Given the description of an element on the screen output the (x, y) to click on. 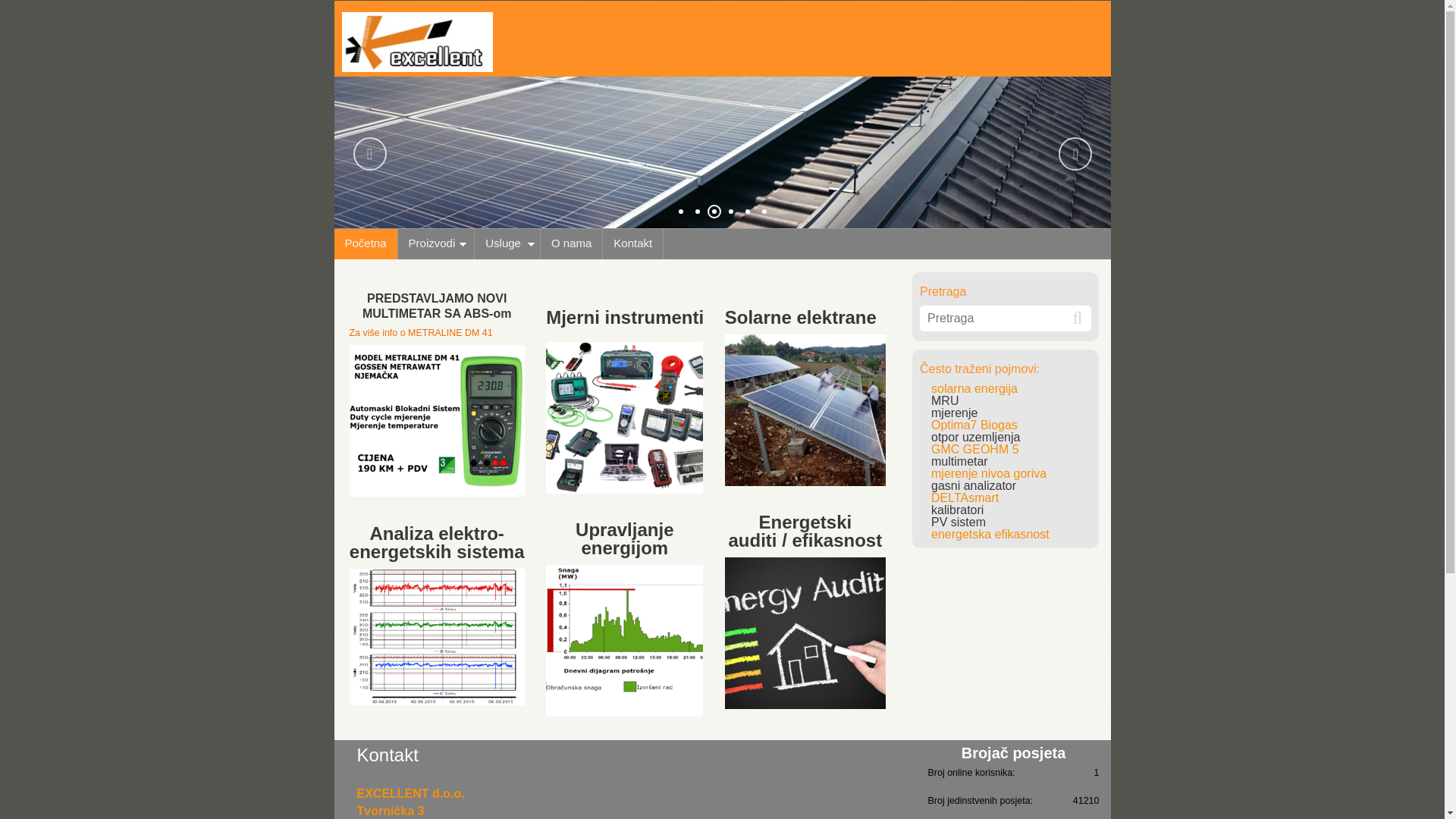
mjerenje nivoa goriva Element type: text (988, 473)
otpor uzemljenja Element type: text (975, 436)
PV sistem Element type: text (958, 521)
multimetar Element type: text (959, 461)
4 Element type: text (730, 210)
DELTAsmart Element type: text (964, 497)
energetska efikasnost Element type: text (990, 533)
Proizvodi Element type: text (436, 243)
2 Element type: text (696, 210)
1 Element type: text (680, 210)
Kontakt Element type: text (632, 243)
gasni analizator Element type: text (973, 485)
solarna energija Element type: text (974, 388)
kalibratori Element type: text (957, 509)
Usluge Element type: text (507, 243)
5 Element type: text (746, 210)
GMC GEOHM 5 Element type: text (975, 448)
6 Element type: text (763, 210)
3 Element type: text (713, 210)
mjerenje Element type: text (954, 412)
Optima7 Biogas Element type: text (974, 424)
MRU Element type: text (944, 400)
O nama Element type: text (571, 243)
